Given the description of an element on the screen output the (x, y) to click on. 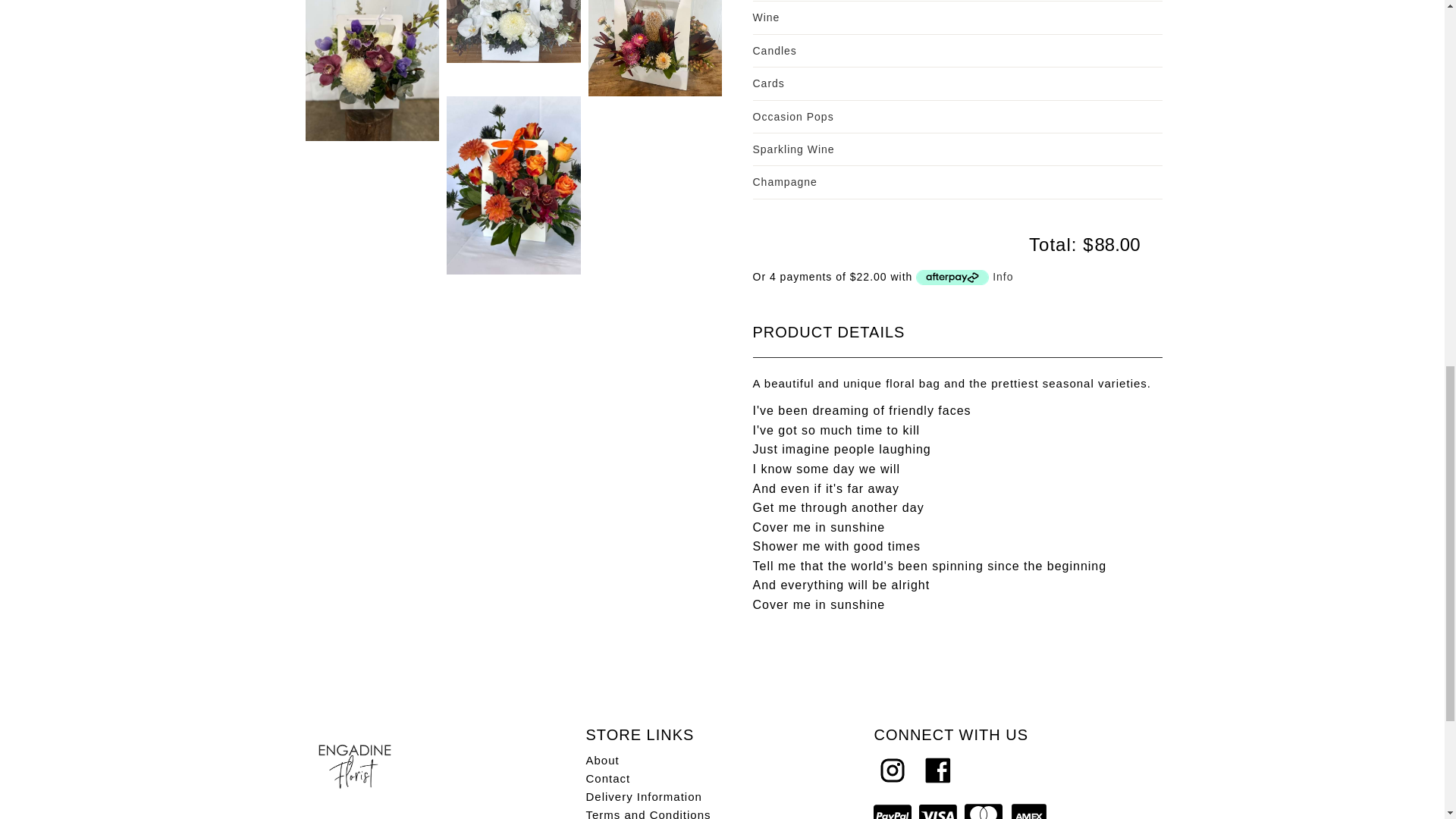
About (601, 759)
Champagne (956, 181)
Terms and Conditions (647, 813)
facebook (937, 770)
Sparkling Wine (956, 149)
Cover Me In Sunshine (513, 31)
Occasion Pops (956, 116)
Delivery Information (643, 796)
Cards (956, 83)
Cover Me In Sunshine (371, 70)
Cover Me In Sunshine (513, 185)
Info (1002, 276)
Contact (607, 778)
Candles (956, 50)
Cover Me In Sunshine (655, 47)
